Given the description of an element on the screen output the (x, y) to click on. 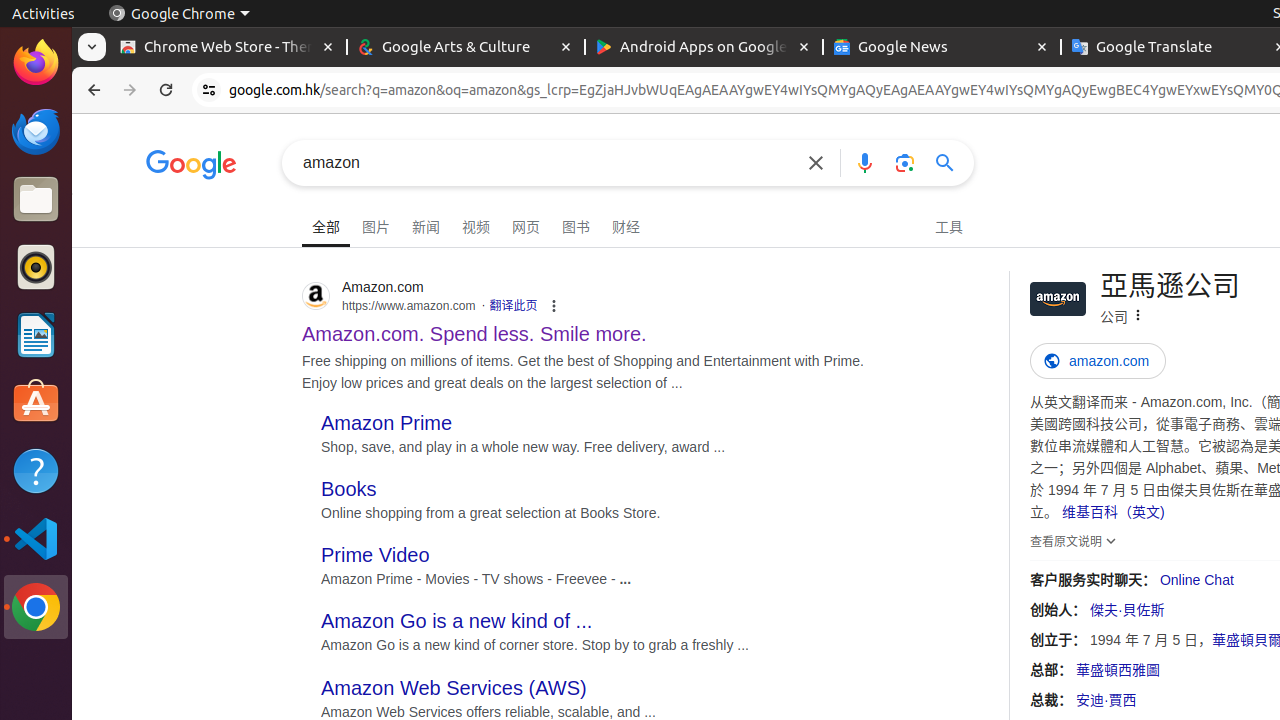
清除 Element type: push-button (816, 162)
翻译此页 Element type: link (513, 306)
Reload Element type: push-button (166, 90)
Amazon Prime Element type: link (387, 422)
Android Apps on Google Play - Memory usage - 60.6 MB Element type: page-tab (704, 47)
